Given the description of an element on the screen output the (x, y) to click on. 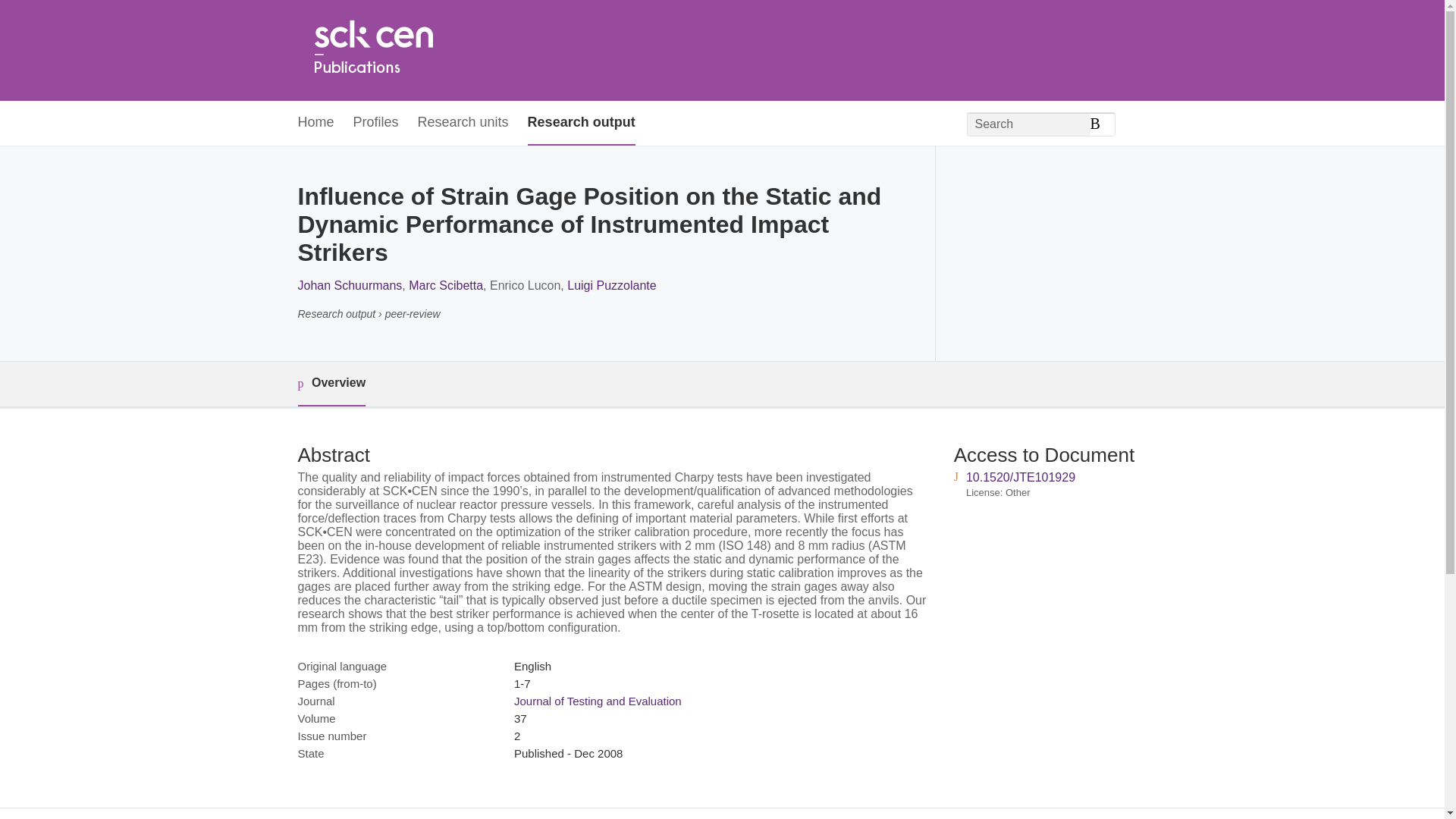
Research units (462, 122)
Overview (331, 383)
Research output (580, 122)
Journal of Testing and Evaluation (597, 700)
Home (372, 50)
Luigi Puzzolante (611, 285)
Profiles (375, 122)
Johan Schuurmans (349, 285)
Marc Scibetta (446, 285)
Home (315, 122)
